Given the description of an element on the screen output the (x, y) to click on. 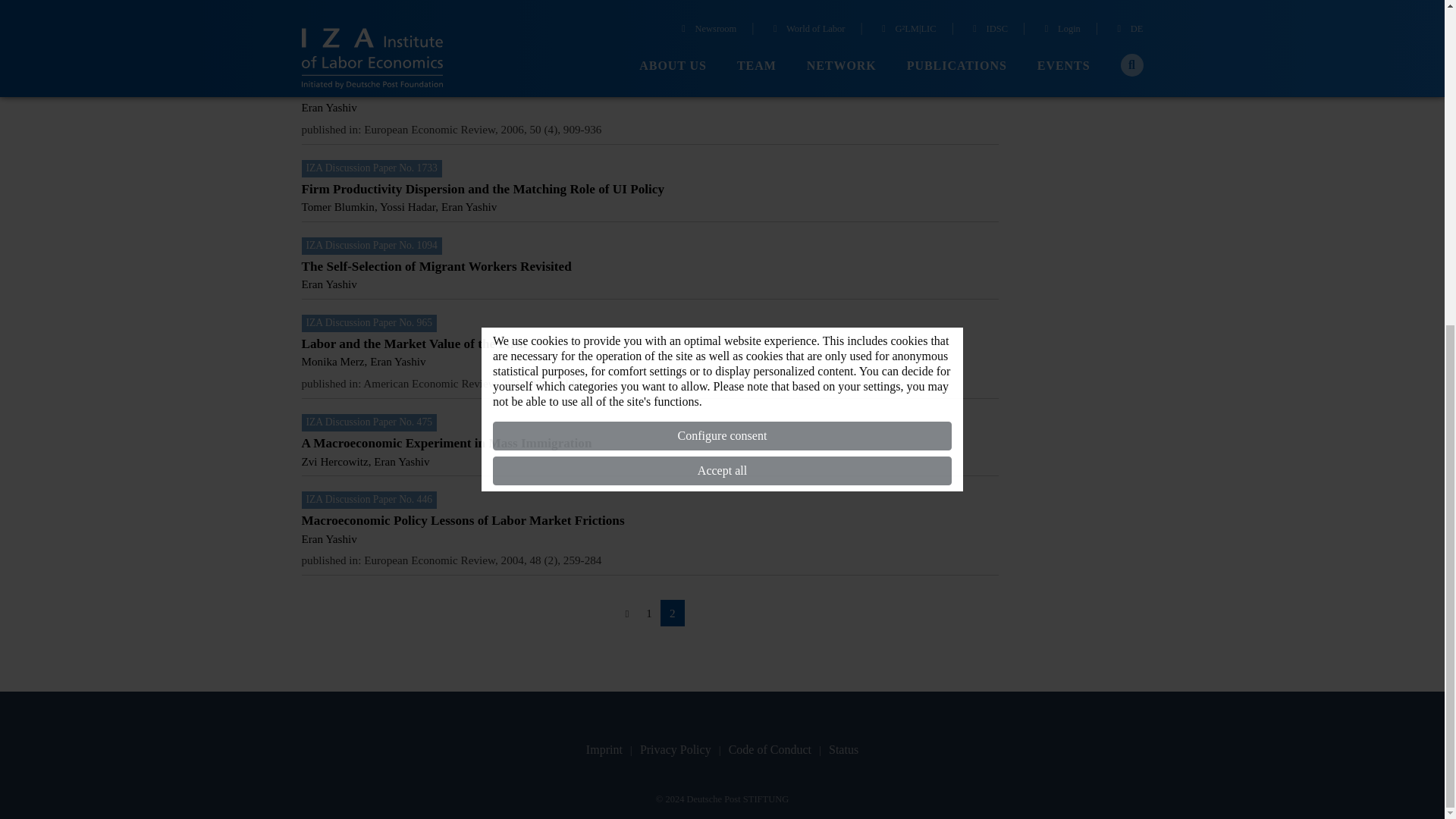
dp (1024, 15)
